Given the description of an element on the screen output the (x, y) to click on. 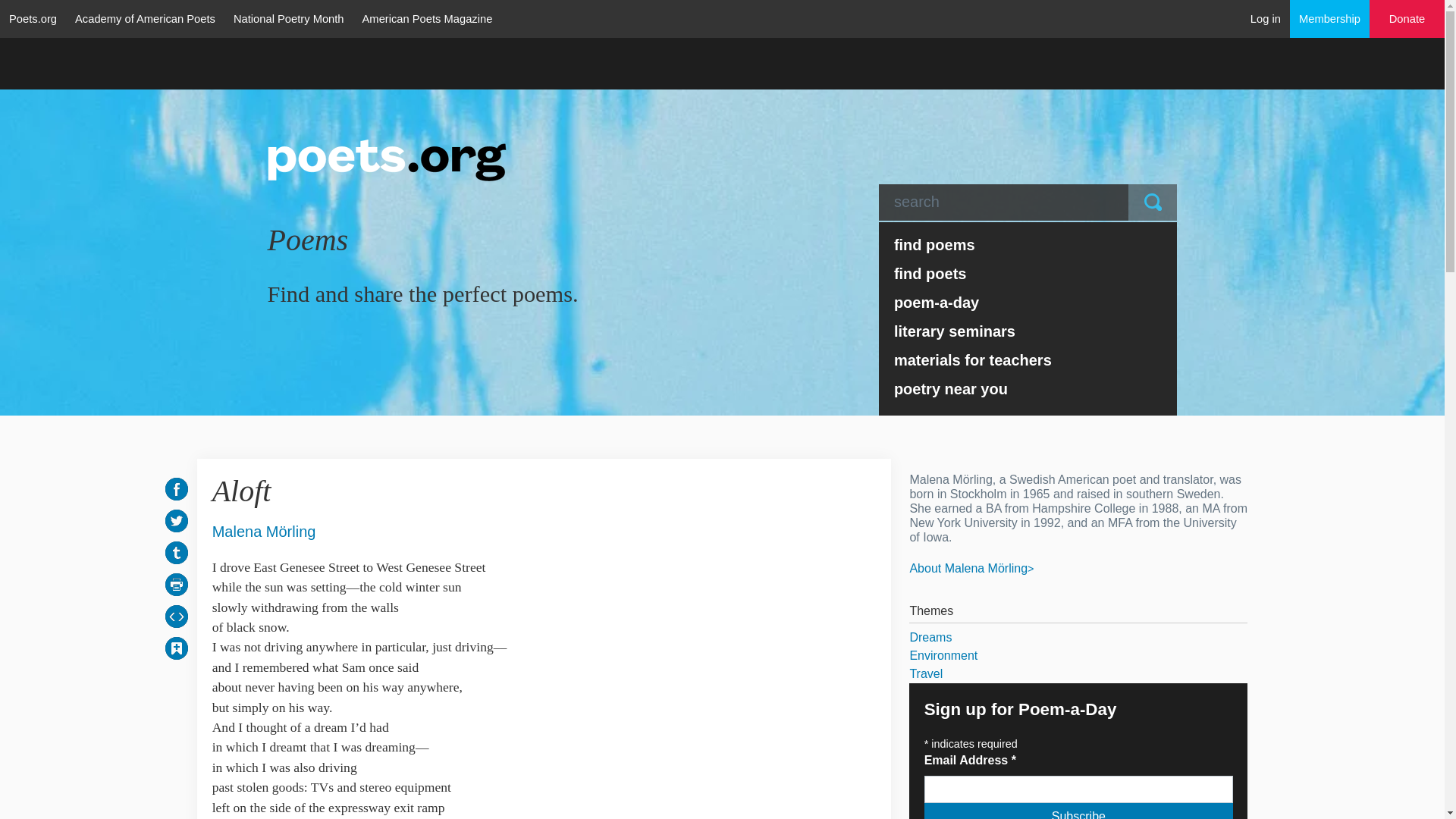
Subscribe (1078, 811)
Membership (1330, 18)
Become a member of the Academy of American Poets (1330, 18)
poetry near you (1028, 388)
poetry near you (1028, 388)
Academy of American Poets (144, 18)
materials for teachers (1028, 359)
materials for teachers (1028, 359)
poem-a-day (1028, 302)
poem-a-day (1028, 302)
literary seminars (1028, 330)
American Poets Magazine (427, 18)
literary seminars (1028, 330)
Poets.org (32, 18)
Travel (1077, 674)
